Given the description of an element on the screen output the (x, y) to click on. 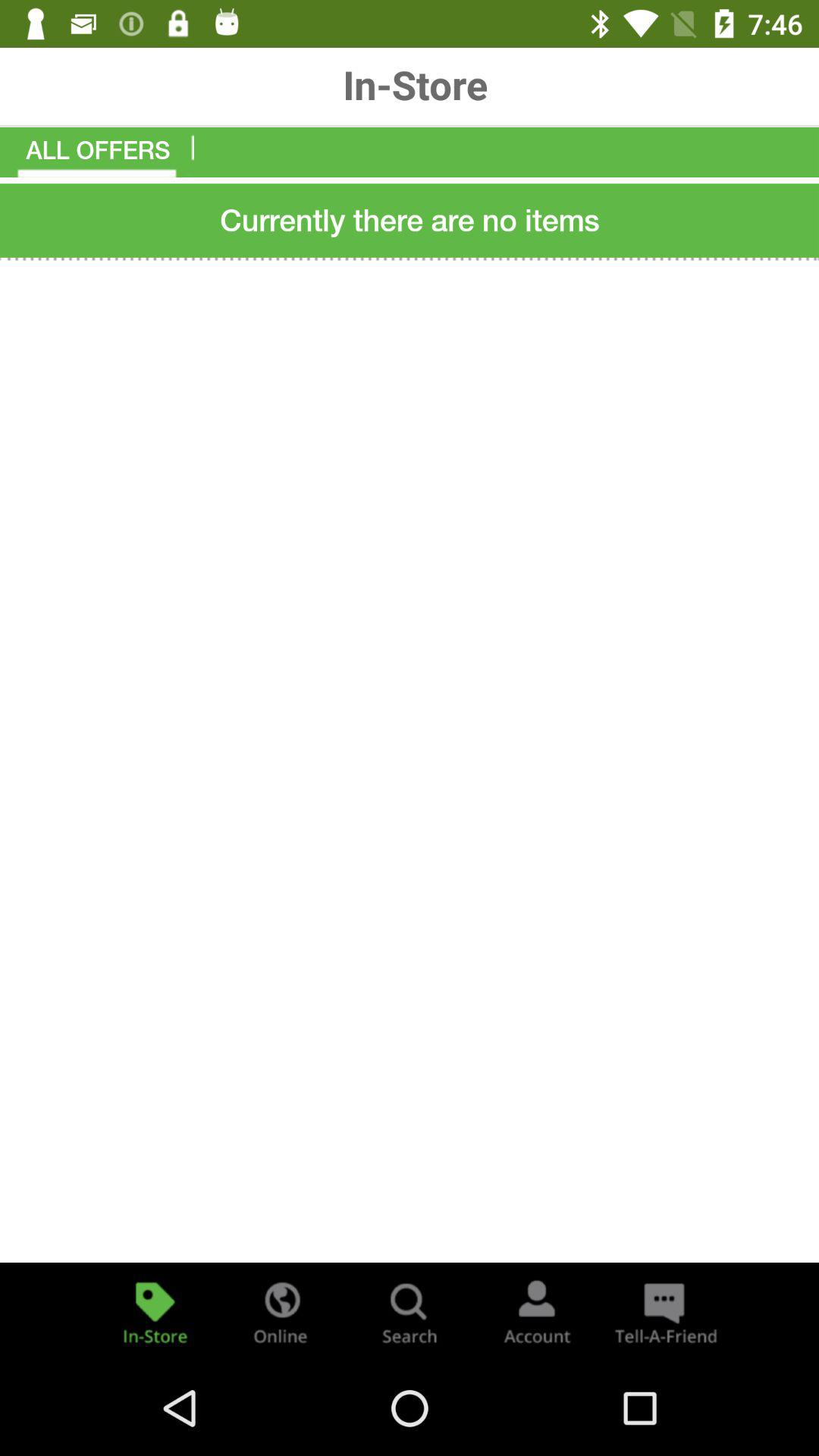
in store (154, 1311)
